Given the description of an element on the screen output the (x, y) to click on. 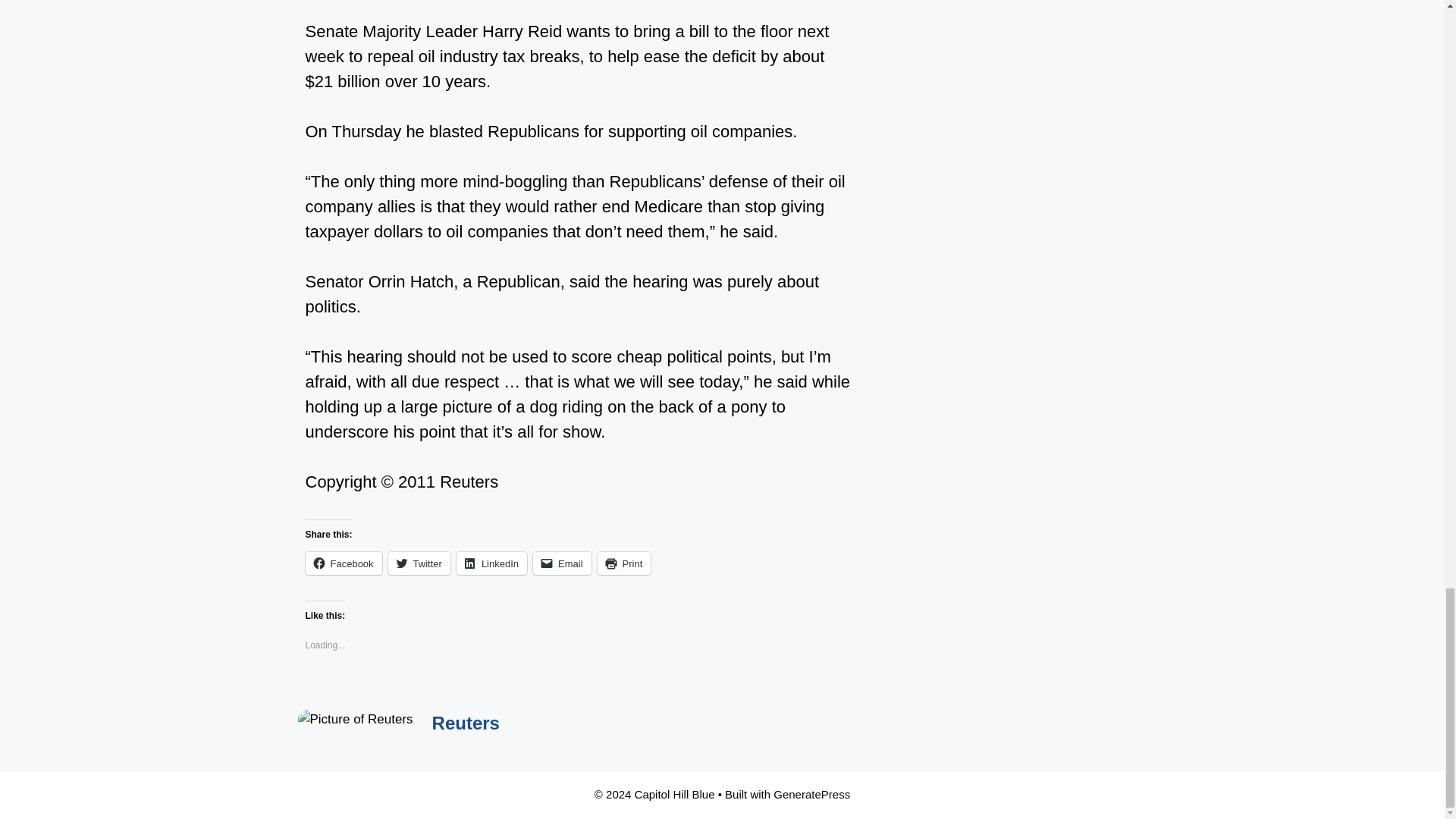
Click to share on Twitter (418, 563)
Facebook (342, 563)
Twitter (418, 563)
Email (561, 563)
GeneratePress (811, 793)
Click to share on Facebook (342, 563)
Print (623, 563)
Click to print (623, 563)
Click to email a link to a friend (561, 563)
Click to share on LinkedIn (492, 563)
